Given the description of an element on the screen output the (x, y) to click on. 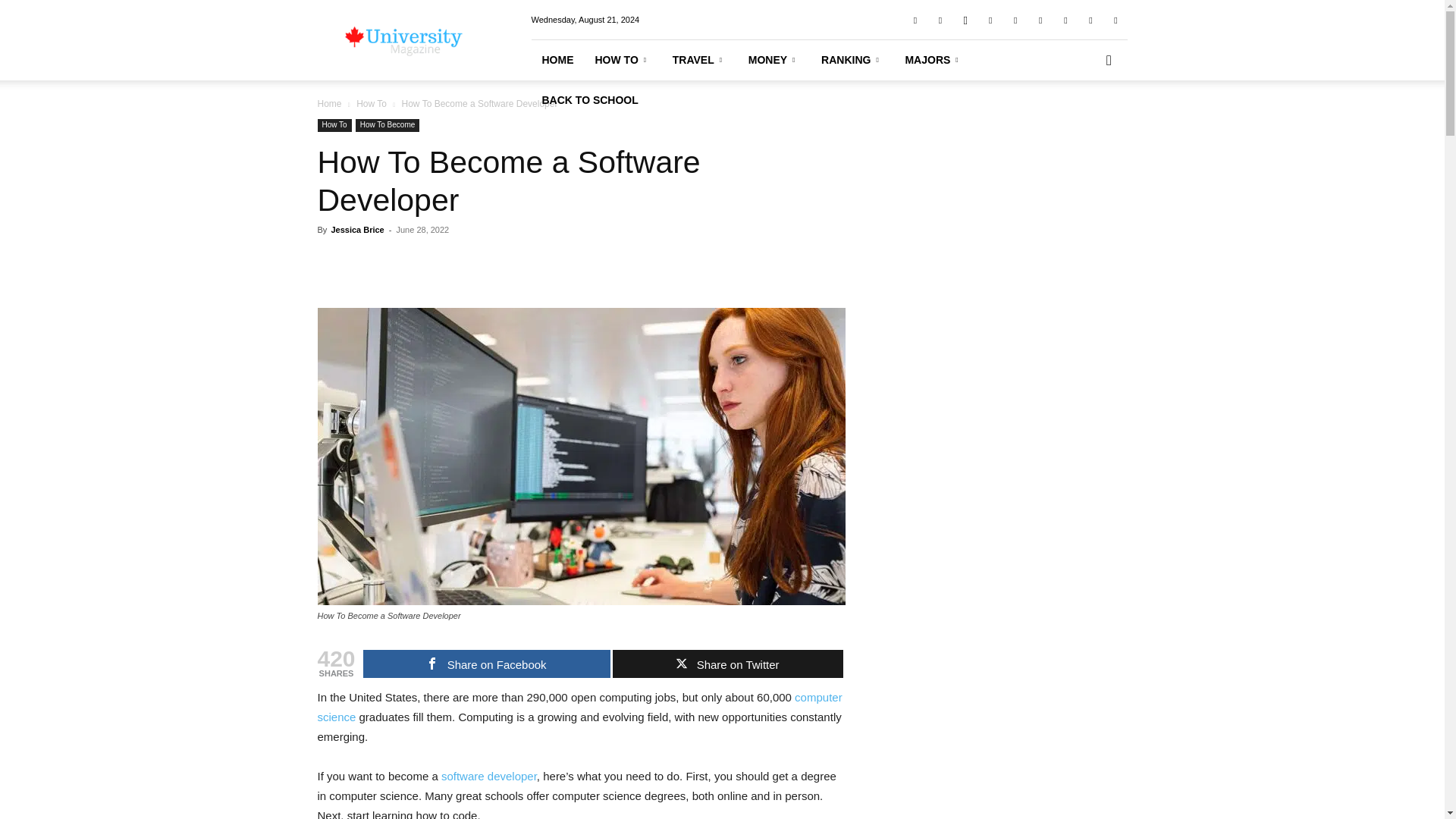
Linkedin (989, 19)
Instagram (964, 19)
Facebook (915, 19)
Flipboard (940, 19)
